Given the description of an element on the screen output the (x, y) to click on. 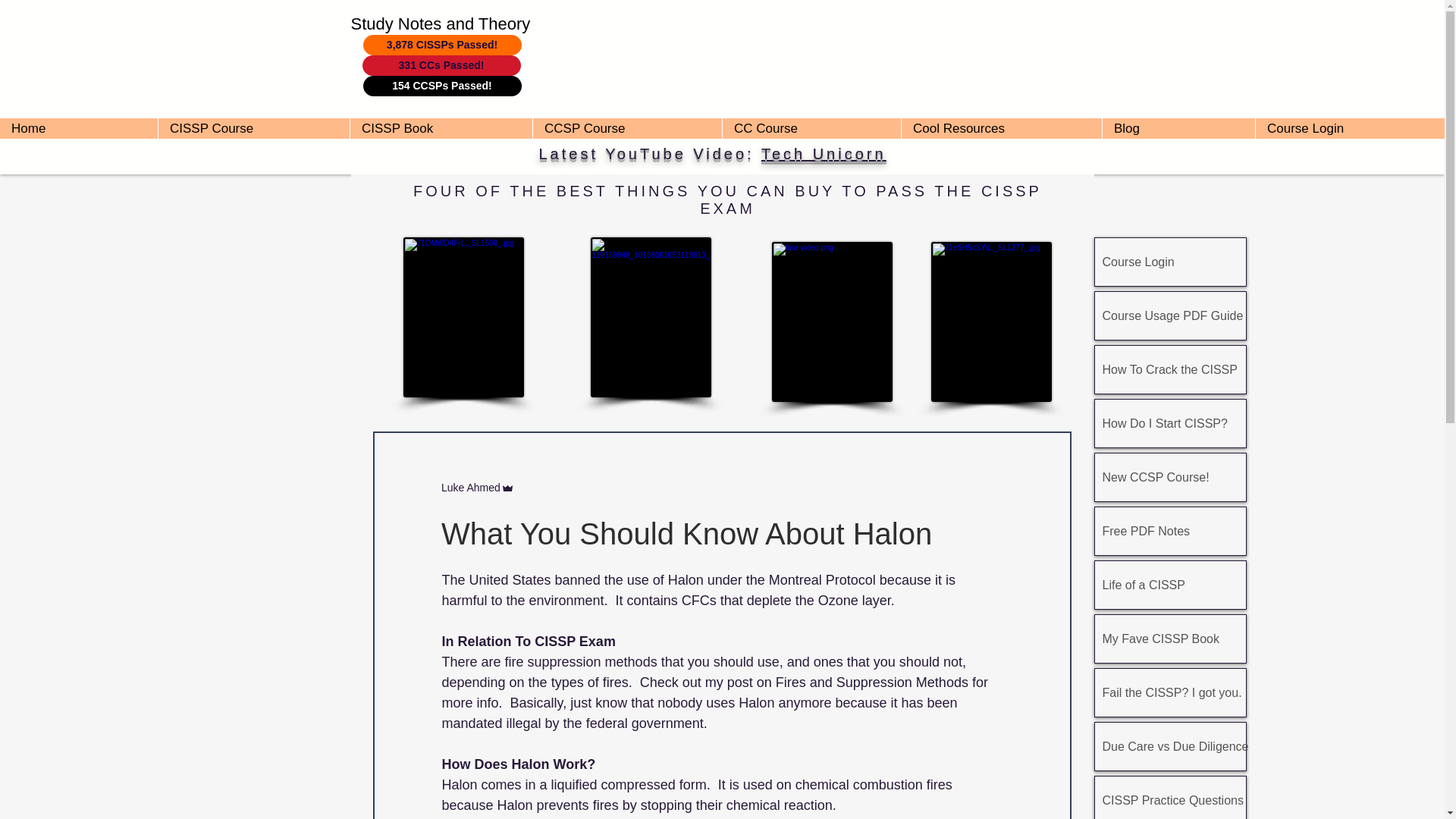
How Do I Start CISSP? (1170, 423)
Study Notes and Theory (439, 23)
CISSP Book (440, 127)
331 CCs Passed! (441, 65)
Course Usage PDF Guide (1170, 315)
Fail the CISSP? I got you. (1170, 692)
CCSP Course (627, 127)
Blog (1178, 127)
CISSP Practice Questions (1170, 797)
Luke Ahmed (470, 487)
